Given the description of an element on the screen output the (x, y) to click on. 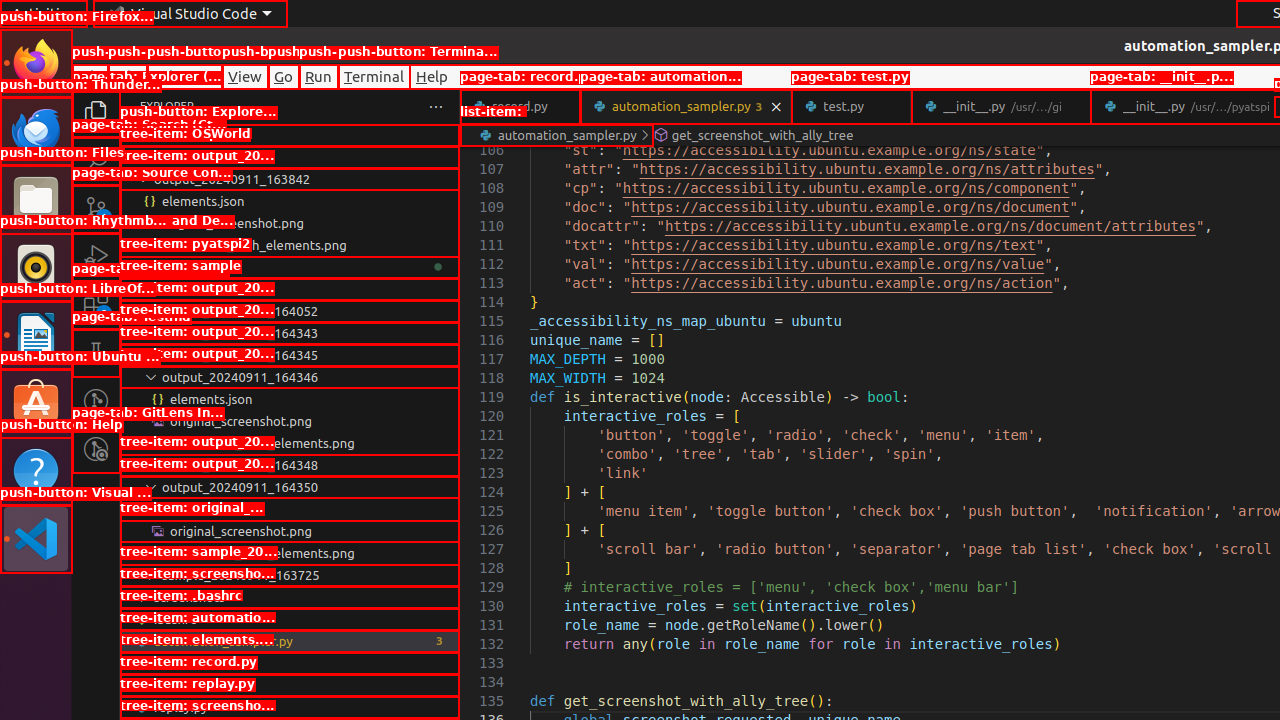
Testing Element type: page-tab (96, 353)
Source Control (Ctrl+Shift+G G) - 1 pending changes Element type: page-tab (96, 208)
output_20240911_164350 Element type: tree-item (289, 487)
Explorer (Ctrl+Shift+E) Element type: page-tab (96, 113)
